Given the description of an element on the screen output the (x, y) to click on. 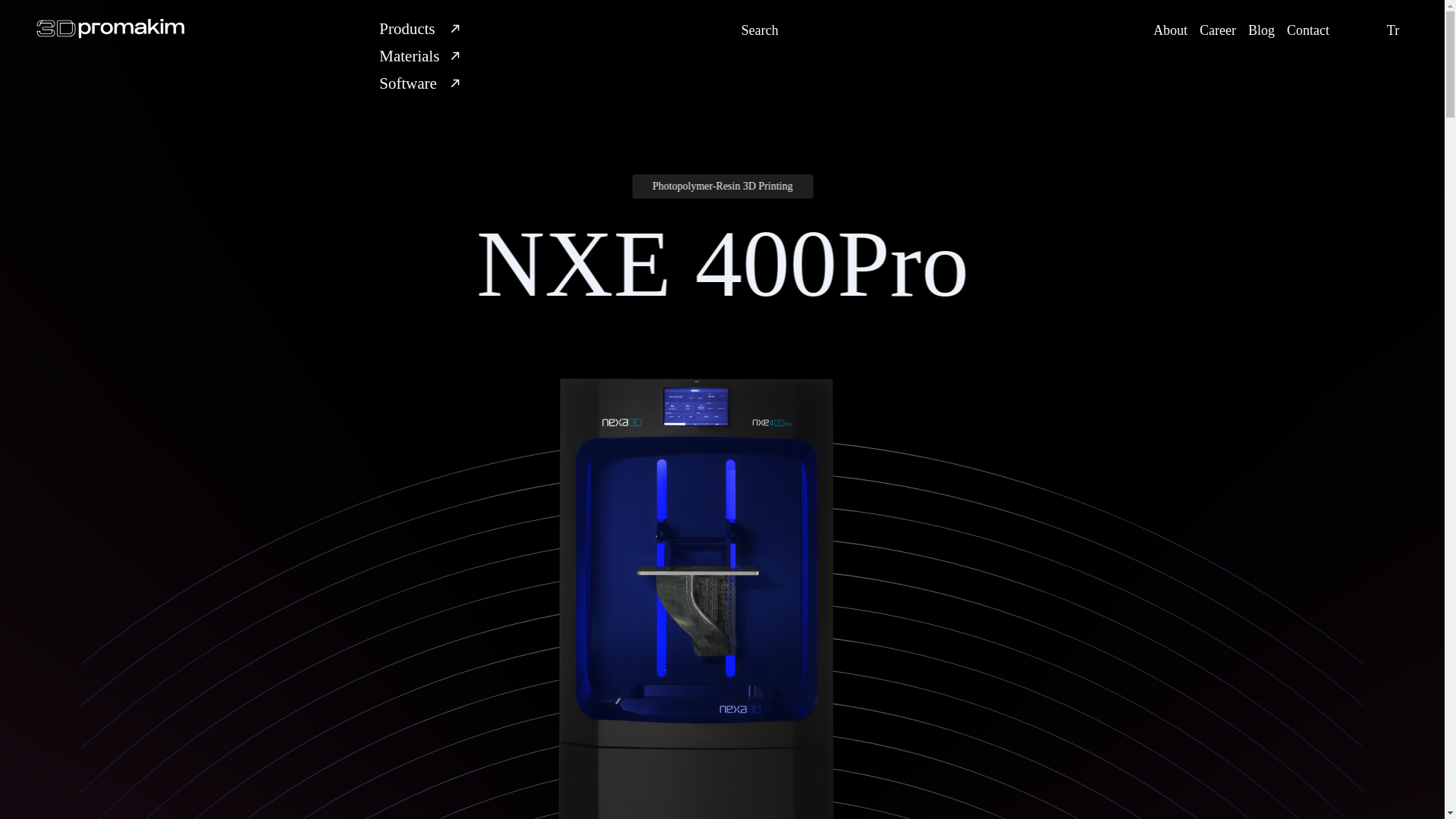
Products (421, 28)
Software (421, 83)
Tr (1392, 30)
Contact (1308, 29)
Career (1217, 29)
About (1170, 29)
Materials (421, 55)
Blog (1261, 29)
